Given the description of an element on the screen output the (x, y) to click on. 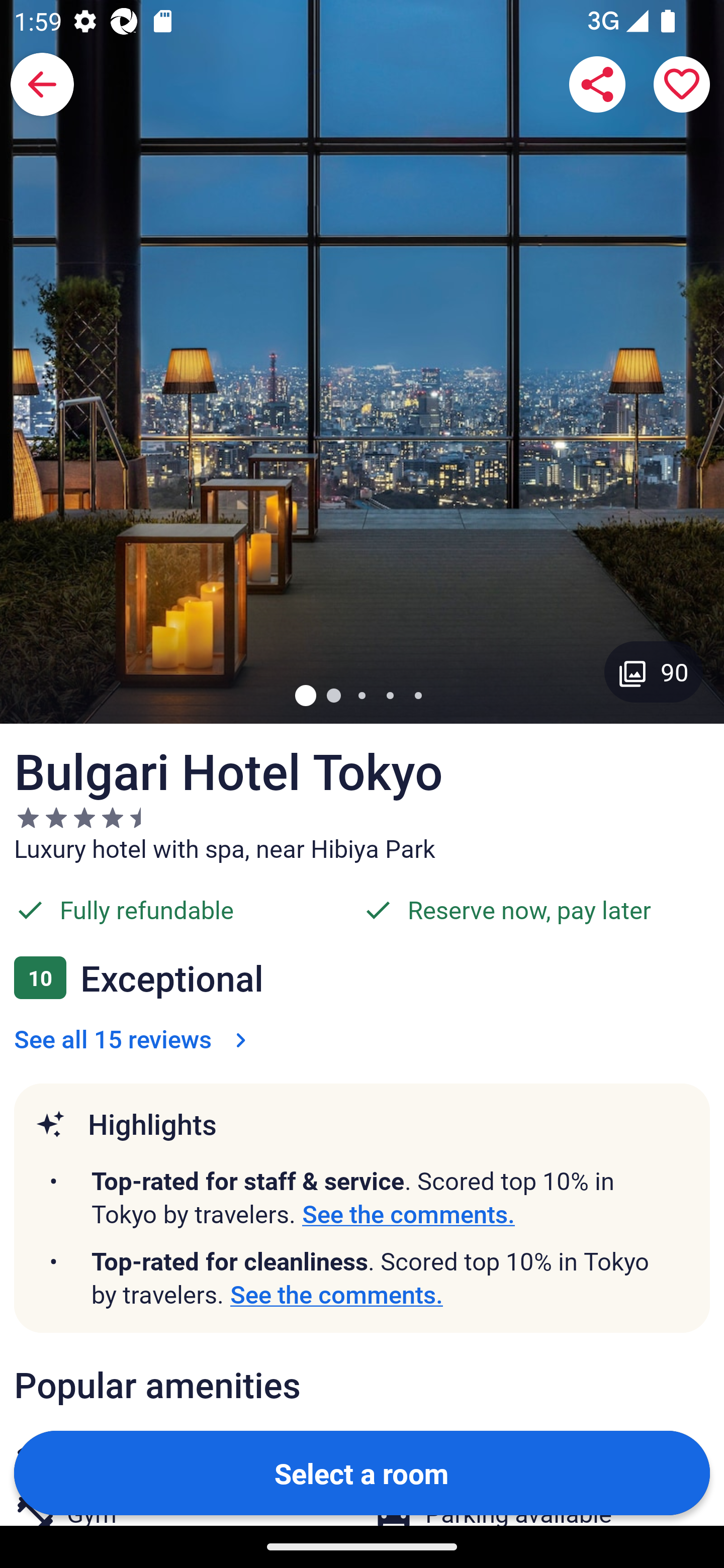
Back (42, 84)
Save property to a trip (681, 84)
Share Bulgari Hotel Tokyo (597, 84)
Gallery button with 90 images (653, 671)
See all 15 reviews See all 15 reviews Link (133, 1038)
Select a room Button Select a room (361, 1472)
